Given the description of an element on the screen output the (x, y) to click on. 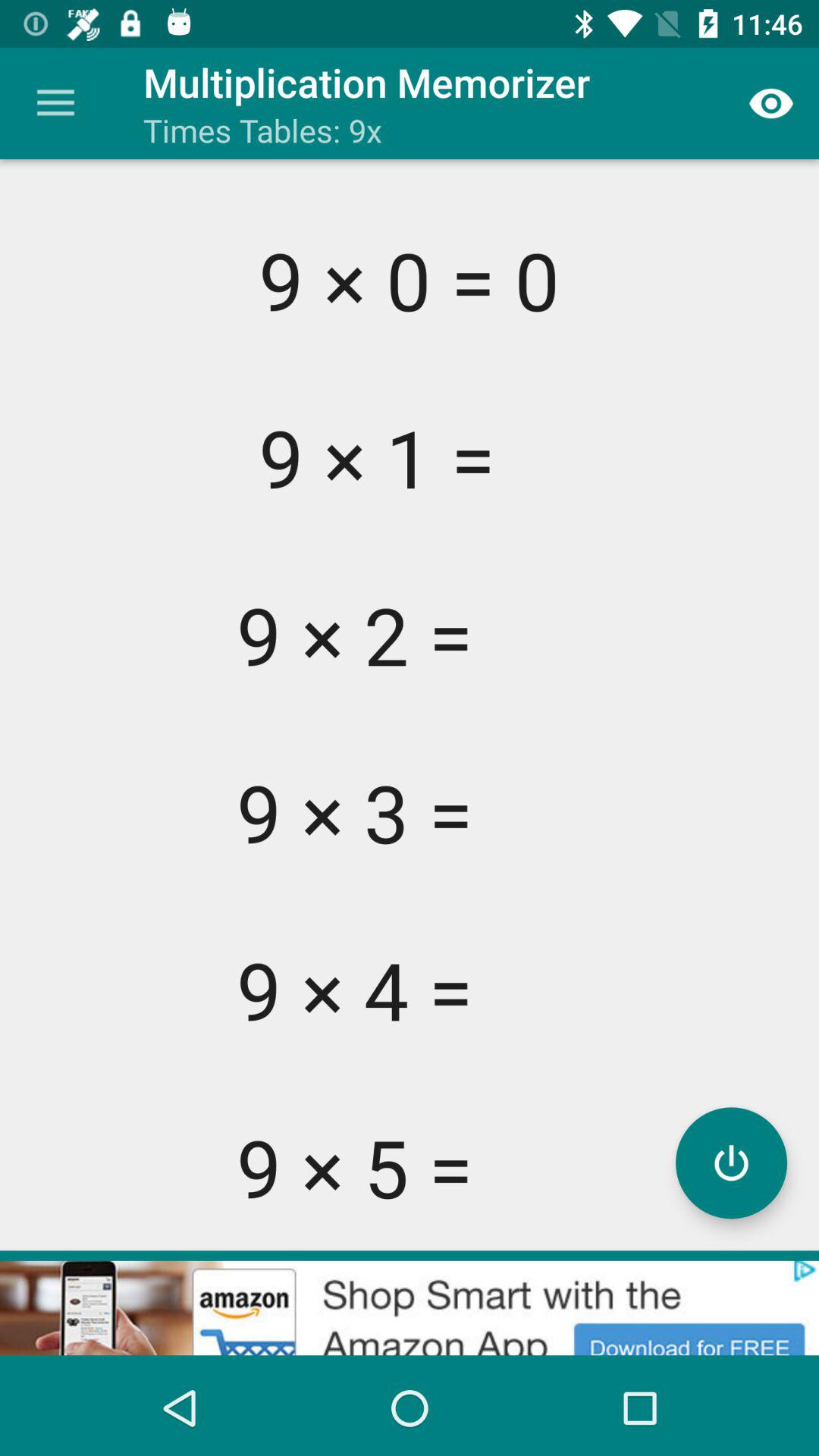
recording button (731, 1162)
